Given the description of an element on the screen output the (x, y) to click on. 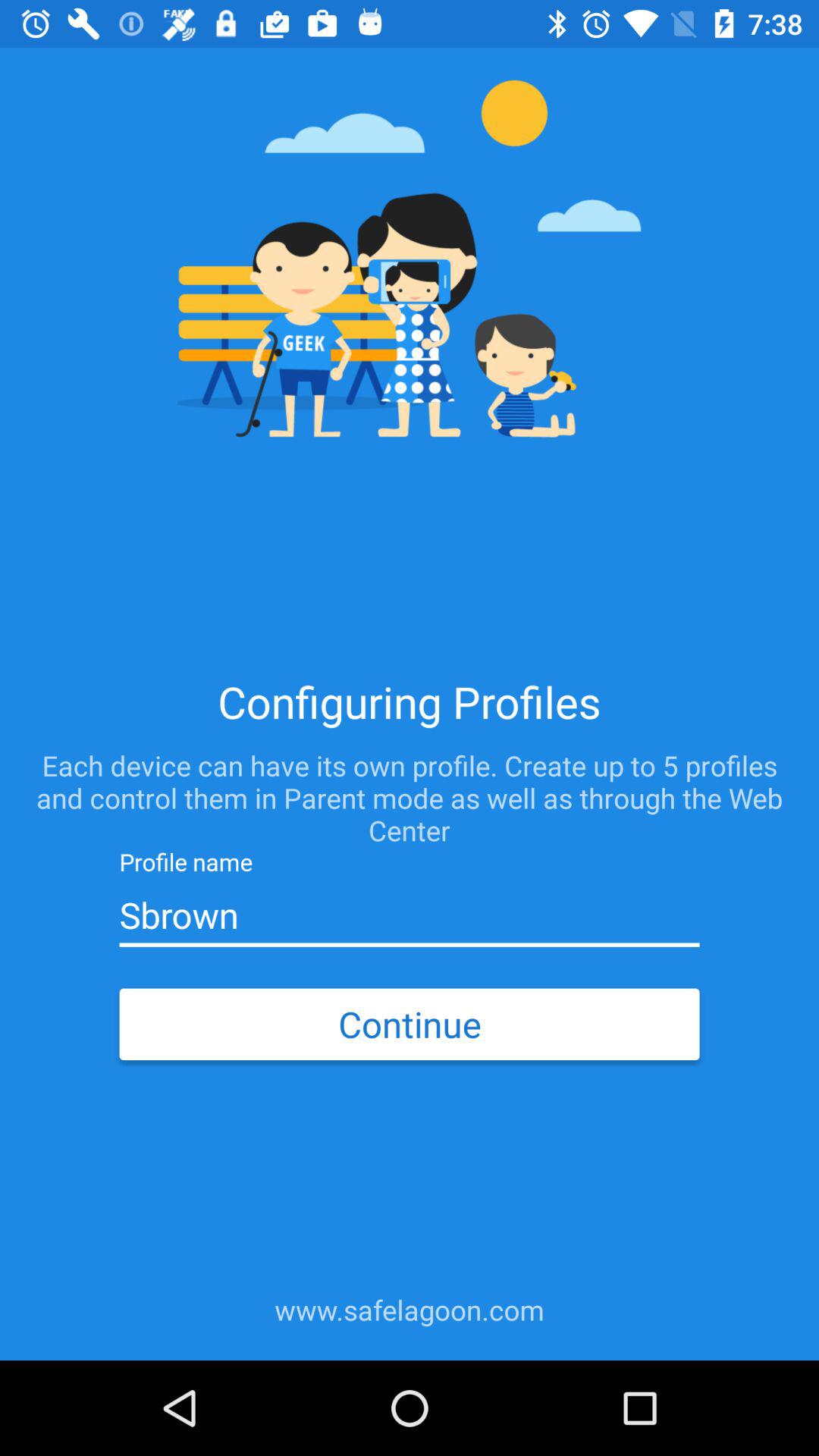
choose the continue icon (409, 1024)
